Given the description of an element on the screen output the (x, y) to click on. 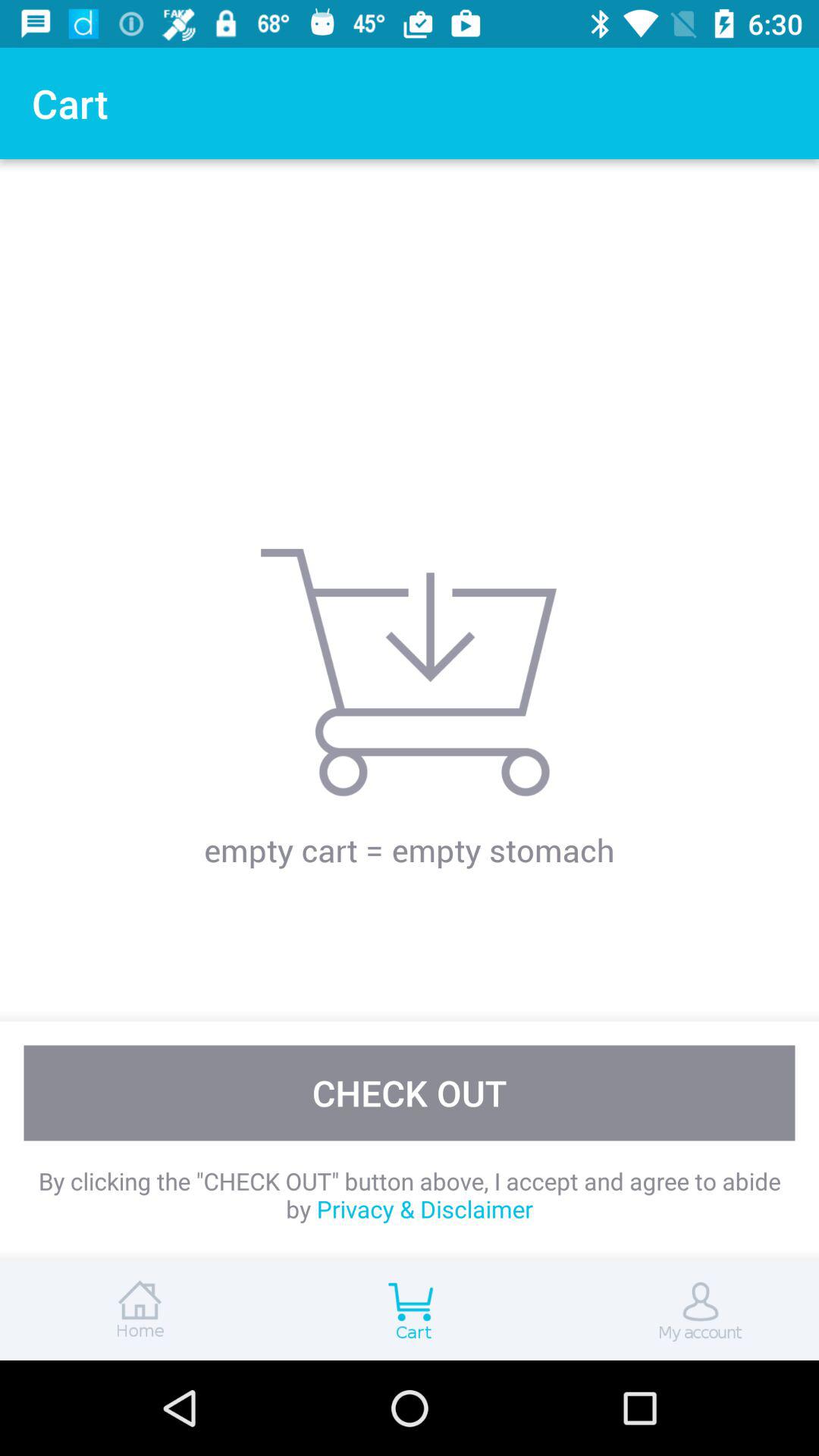
go to home page (136, 1310)
